Given the description of an element on the screen output the (x, y) to click on. 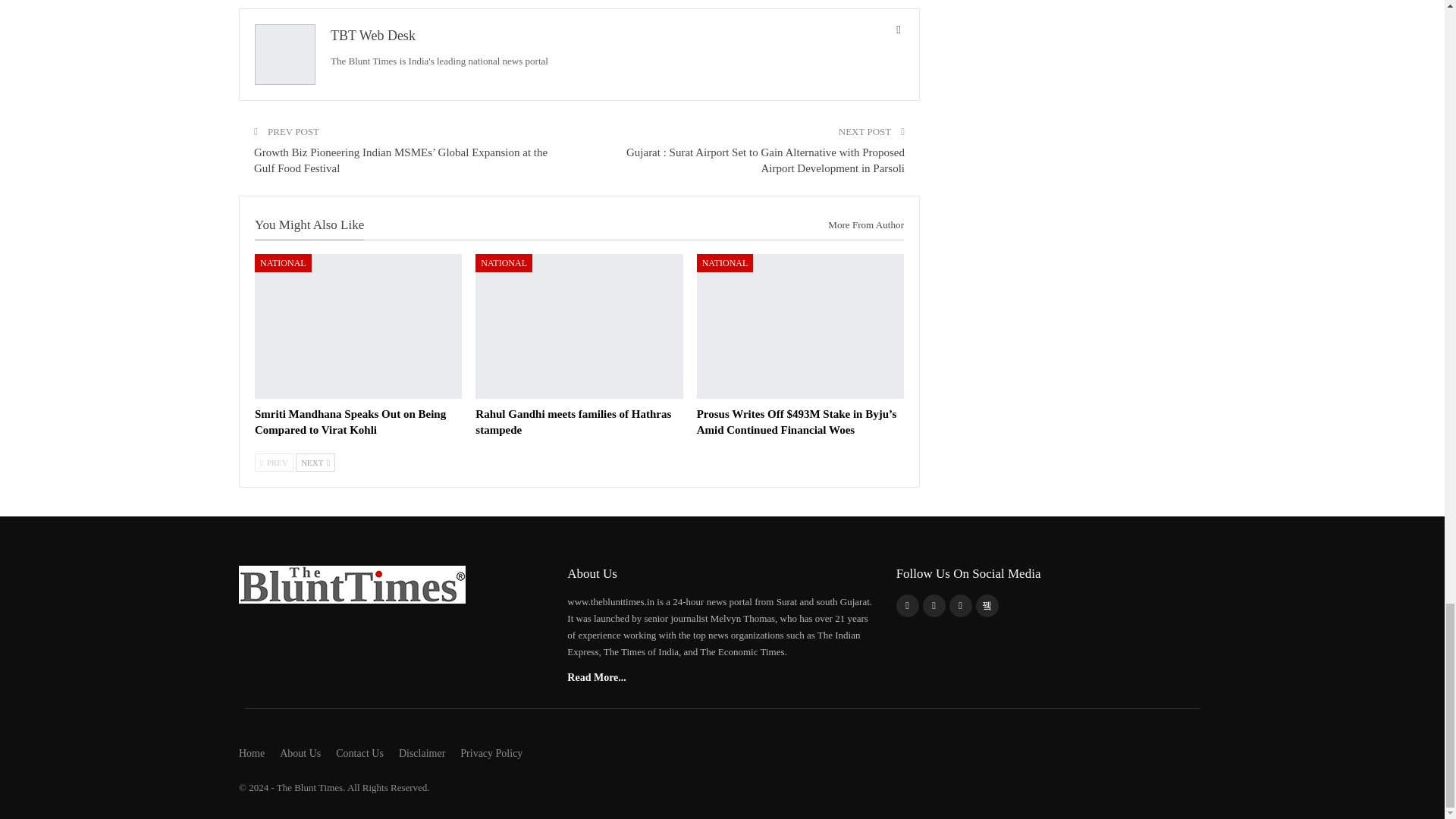
Previous (274, 462)
Smriti Mandhana Speaks Out on Being Compared to Virat Kohli (357, 325)
Smriti Mandhana Speaks Out on Being Compared to Virat Kohli (349, 421)
Next (314, 462)
